Given the description of an element on the screen output the (x, y) to click on. 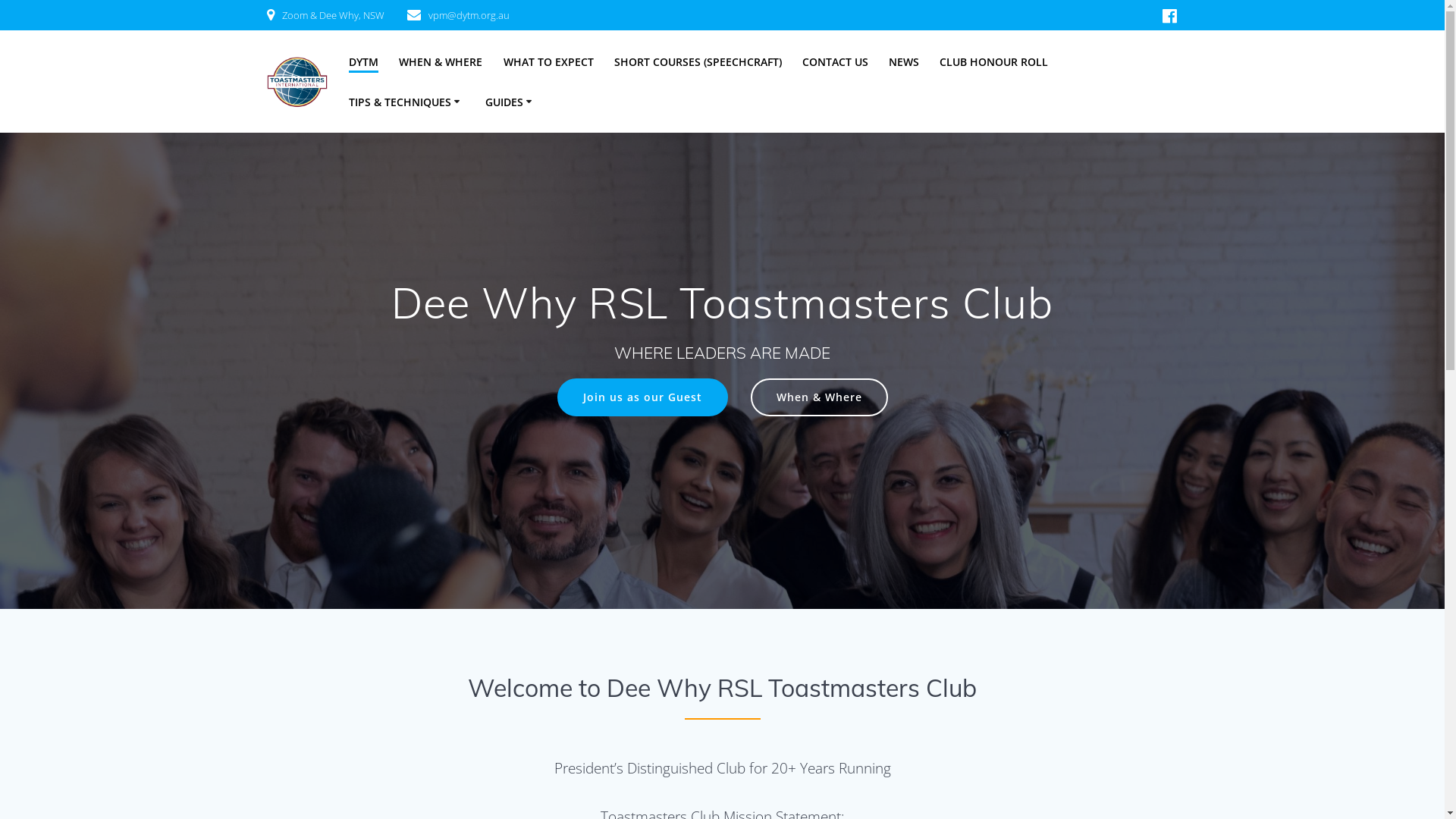
SHORT COURSES (SPEECHCRAFT) Element type: text (697, 61)
CONTACT US Element type: text (835, 61)
CLUB HONOUR ROLL Element type: text (993, 61)
TIPS & TECHNIQUES Element type: text (406, 101)
GUIDES Element type: text (510, 101)
When & Where Element type: text (819, 397)
WHEN & WHERE Element type: text (440, 61)
NEWS Element type: text (903, 61)
WHAT TO EXPECT Element type: text (548, 61)
DYTM Element type: text (363, 62)
Join us as our Guest Element type: text (641, 397)
